Given the description of an element on the screen output the (x, y) to click on. 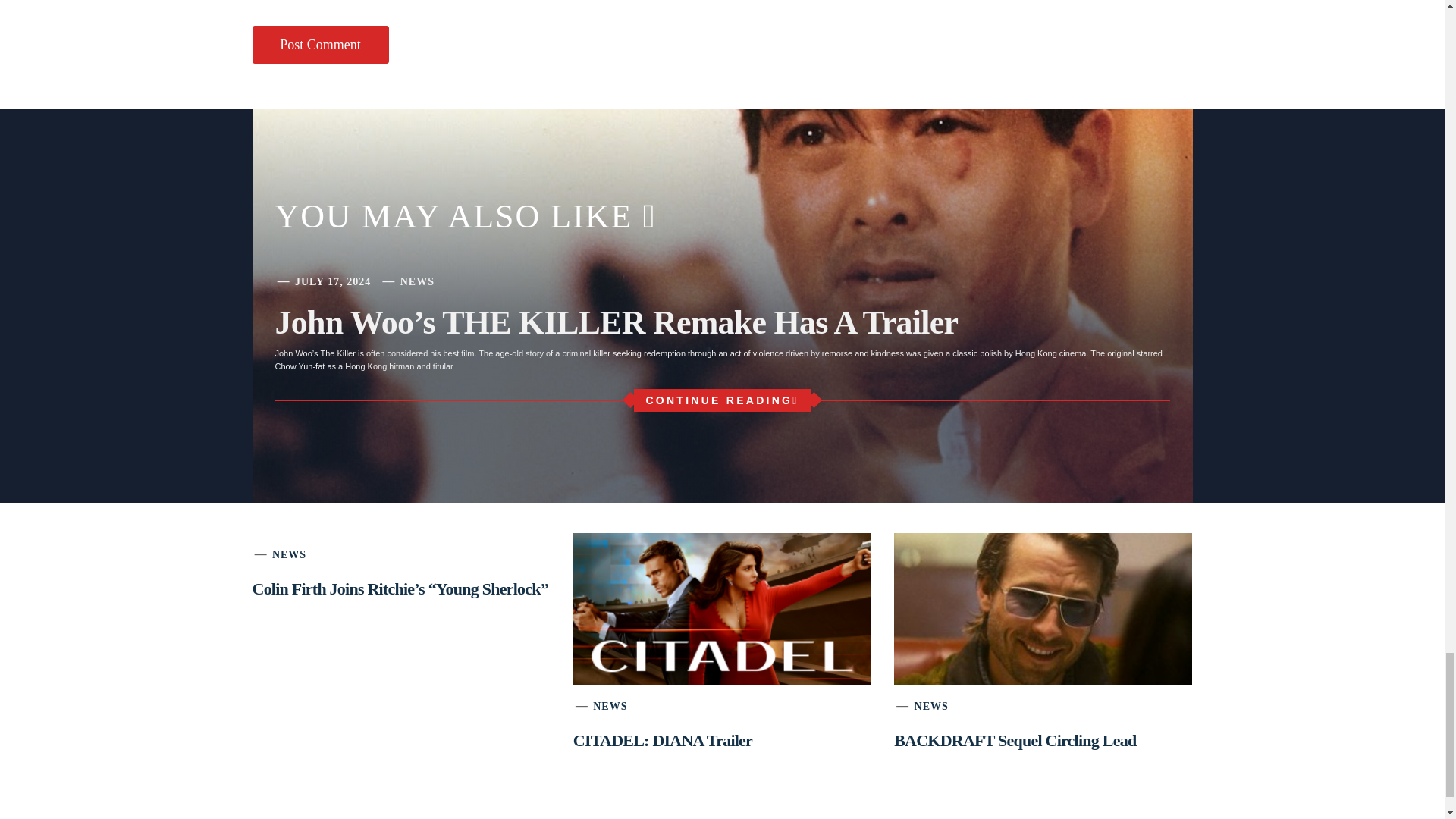
Post Comment (319, 44)
